Given the description of an element on the screen output the (x, y) to click on. 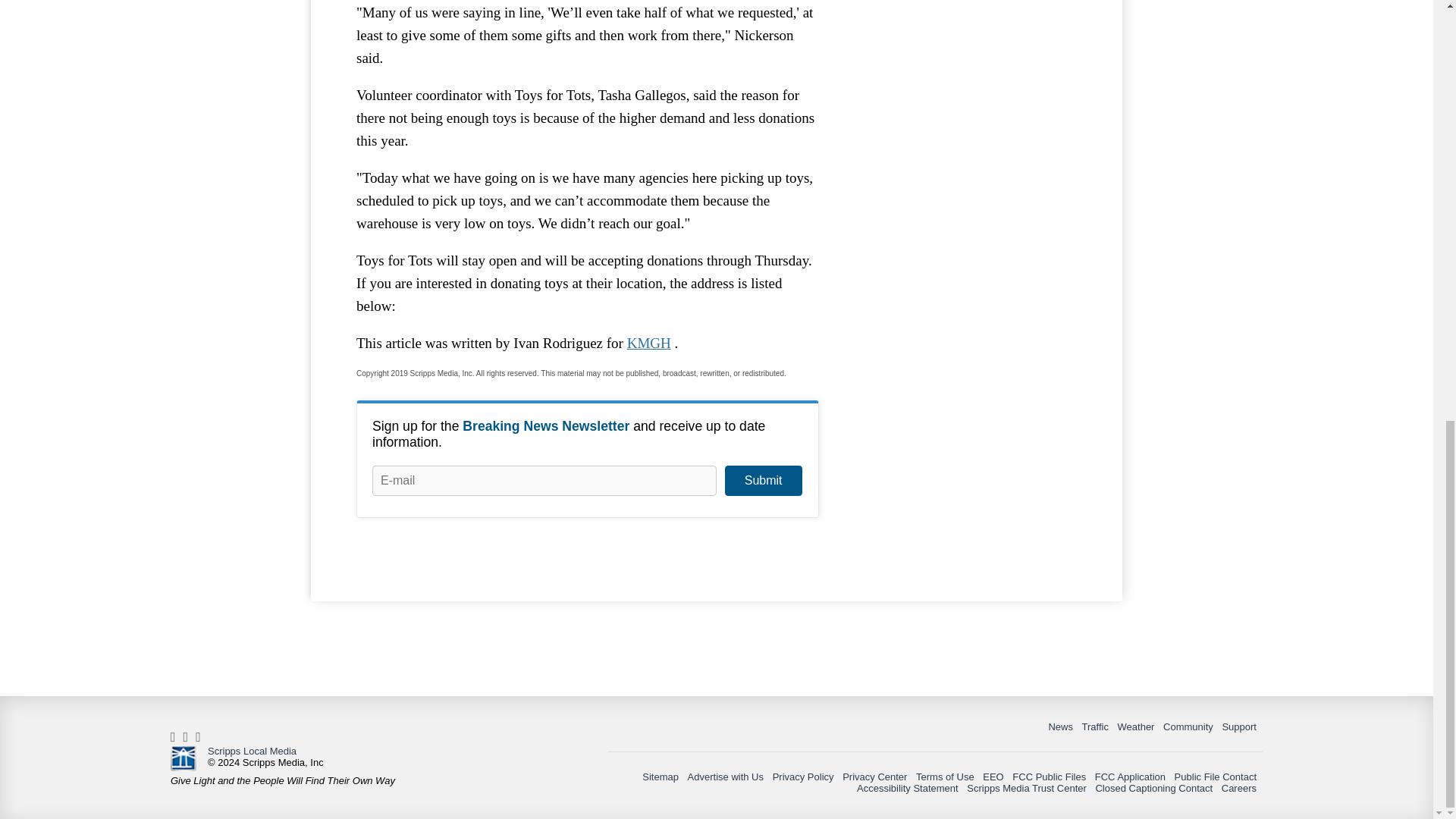
Submit (763, 481)
